Given the description of an element on the screen output the (x, y) to click on. 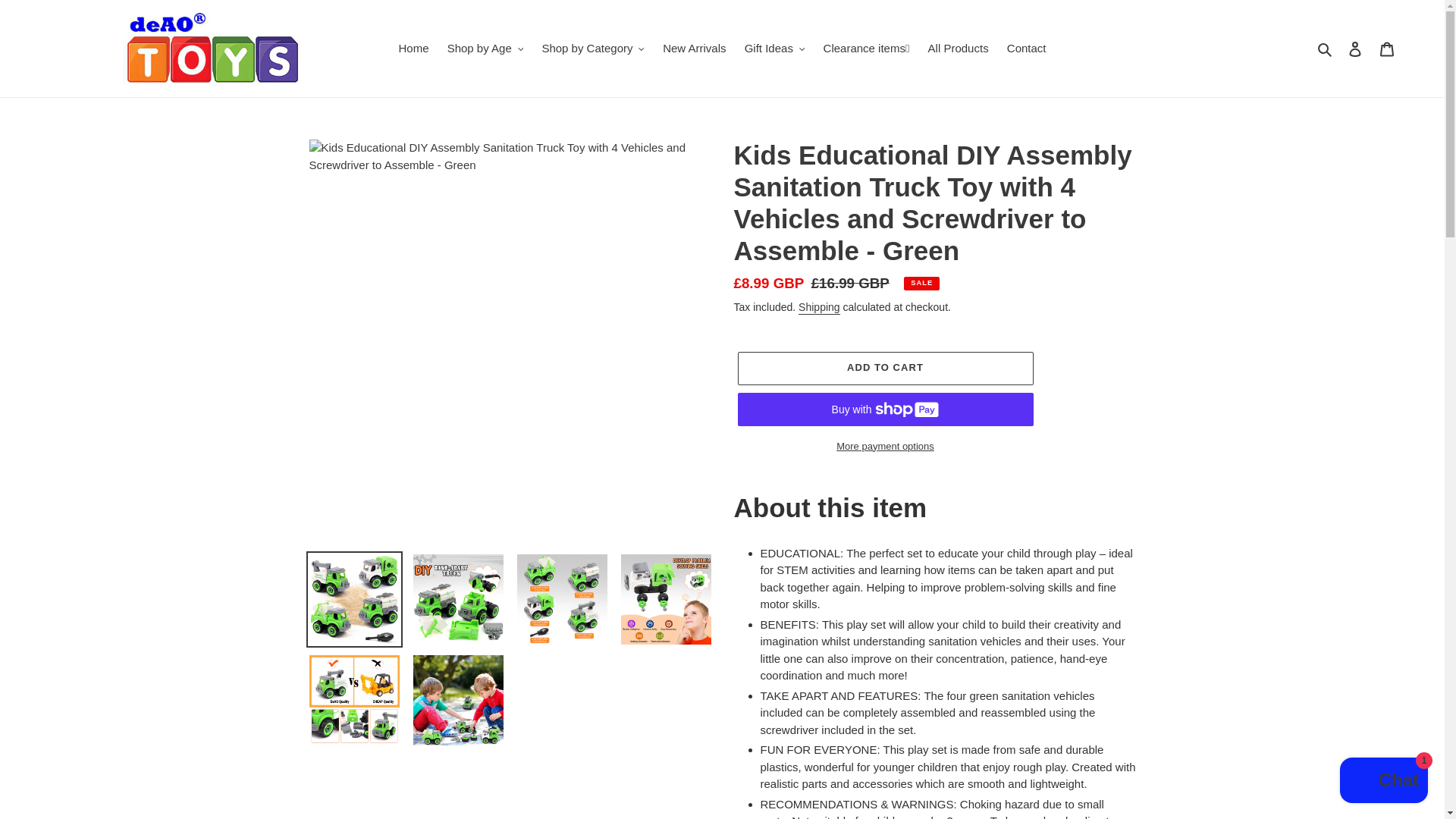
All Products (957, 48)
Shop by Age (485, 48)
Log in (1355, 48)
Shop by Category (593, 48)
Home (412, 48)
Gift Ideas (774, 48)
New Arrivals (694, 48)
Search (1326, 48)
Contact (1026, 48)
Cart (1387, 48)
Shopify online store chat (1383, 781)
